Given the description of an element on the screen output the (x, y) to click on. 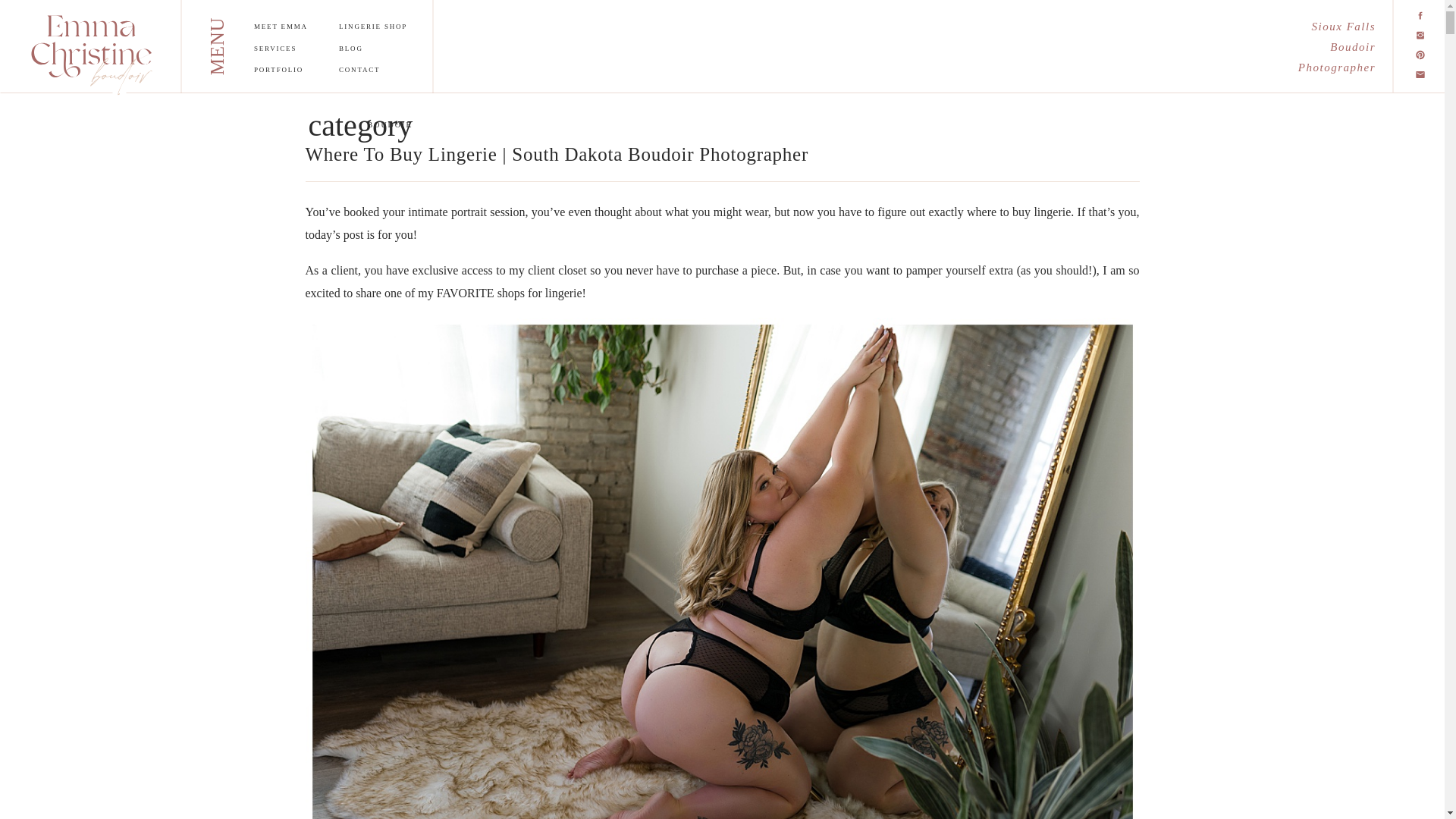
PORTFOLIO (288, 71)
LINGERIE SHOP (378, 28)
CONTACT (376, 71)
SERVICES (285, 50)
MEET EMMA (285, 28)
BLOG (372, 50)
BOUDOIR (389, 124)
